Given the description of an element on the screen output the (x, y) to click on. 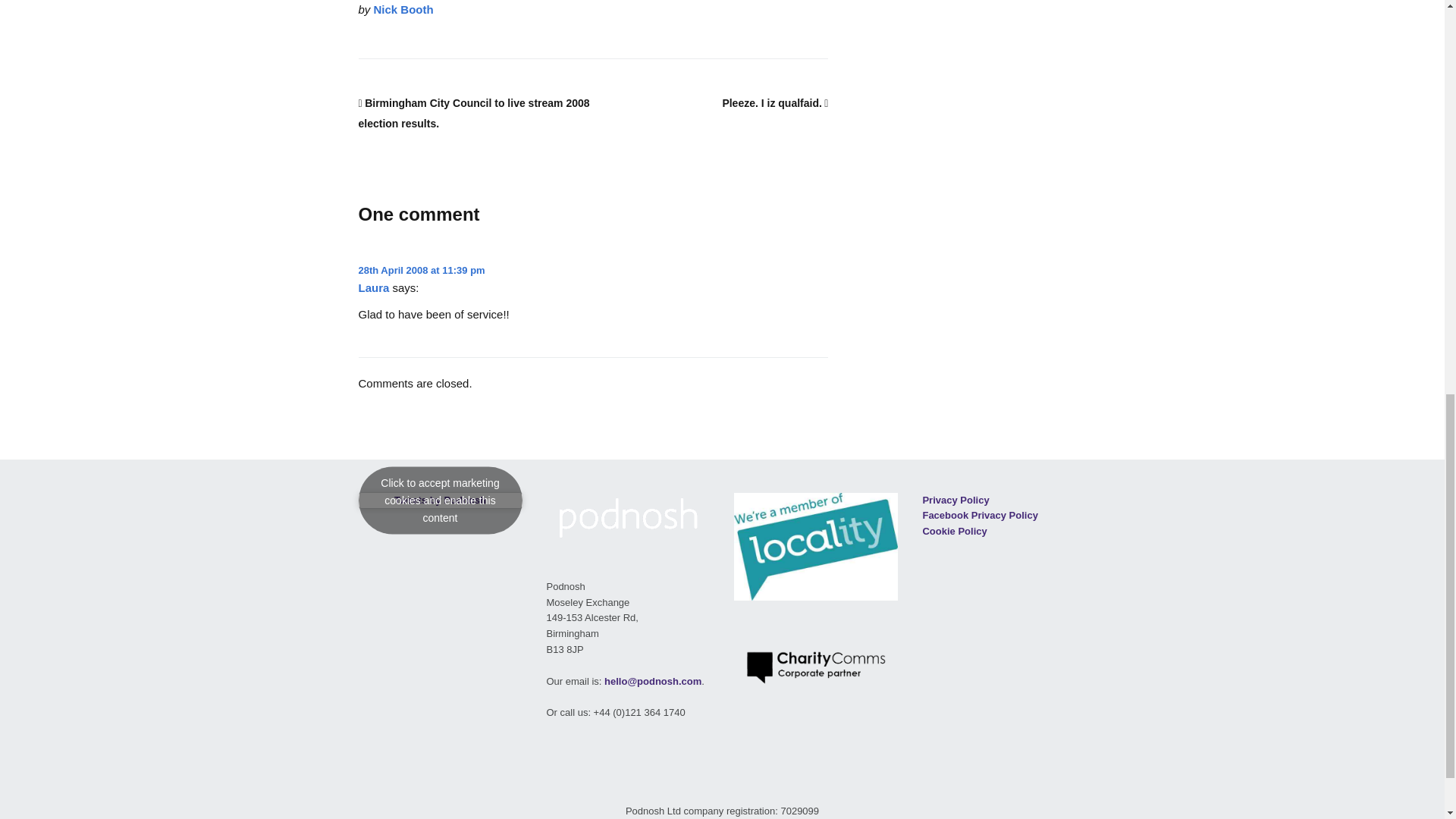
Nick Booth (403, 9)
Pleeze. I iz qualfaid. (775, 102)
Laura (373, 287)
28th April 2008 at 11:39 pm (421, 270)
